Given the description of an element on the screen output the (x, y) to click on. 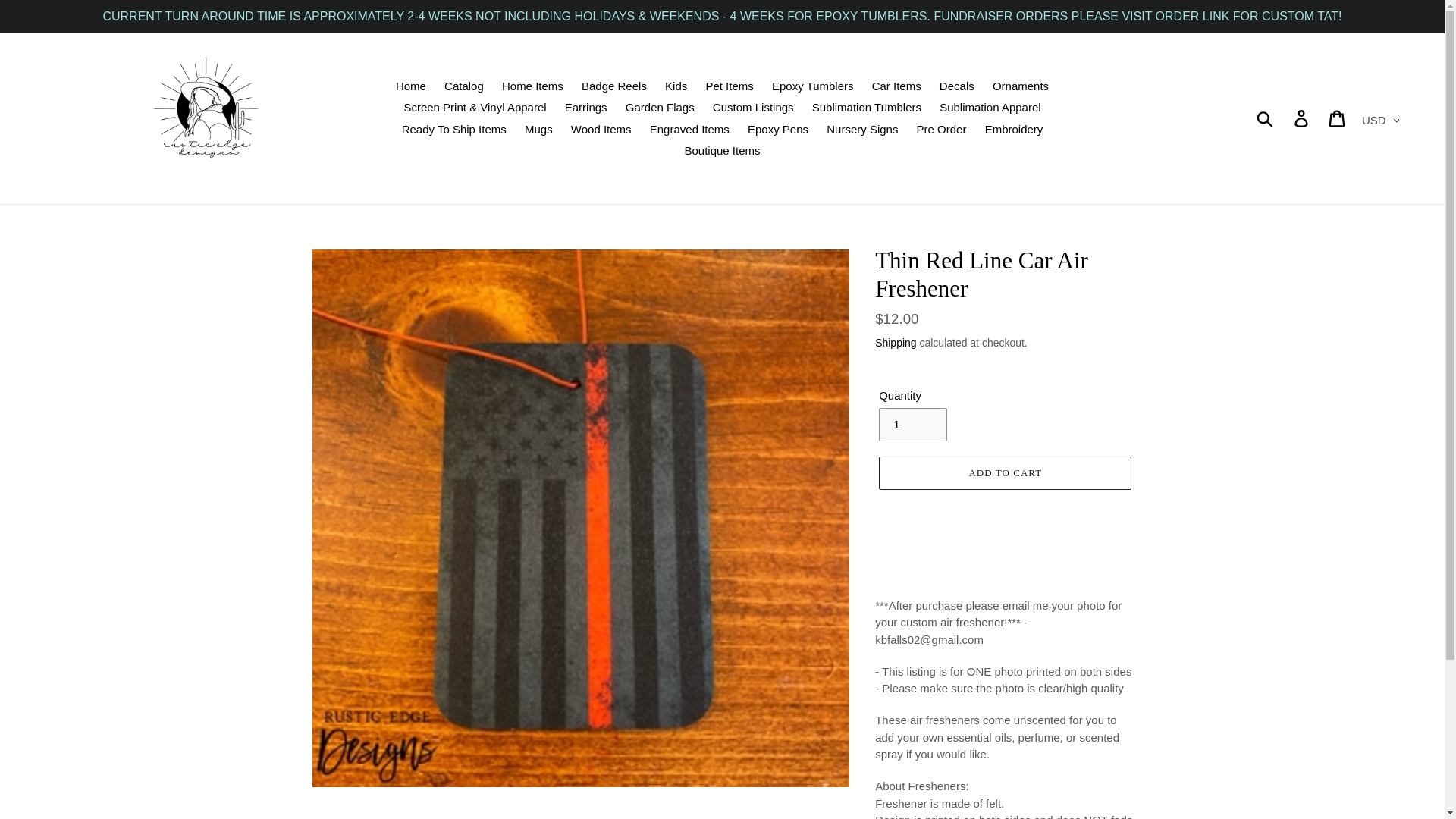
Garden Flags (659, 107)
Decals (956, 86)
Custom Listings (753, 107)
Catalog (464, 86)
Ornaments (1021, 86)
Boutique Items (722, 151)
Nursery Signs (861, 128)
Earrings (585, 107)
Pet Items (728, 86)
Embroidery (1013, 128)
